Given the description of an element on the screen output the (x, y) to click on. 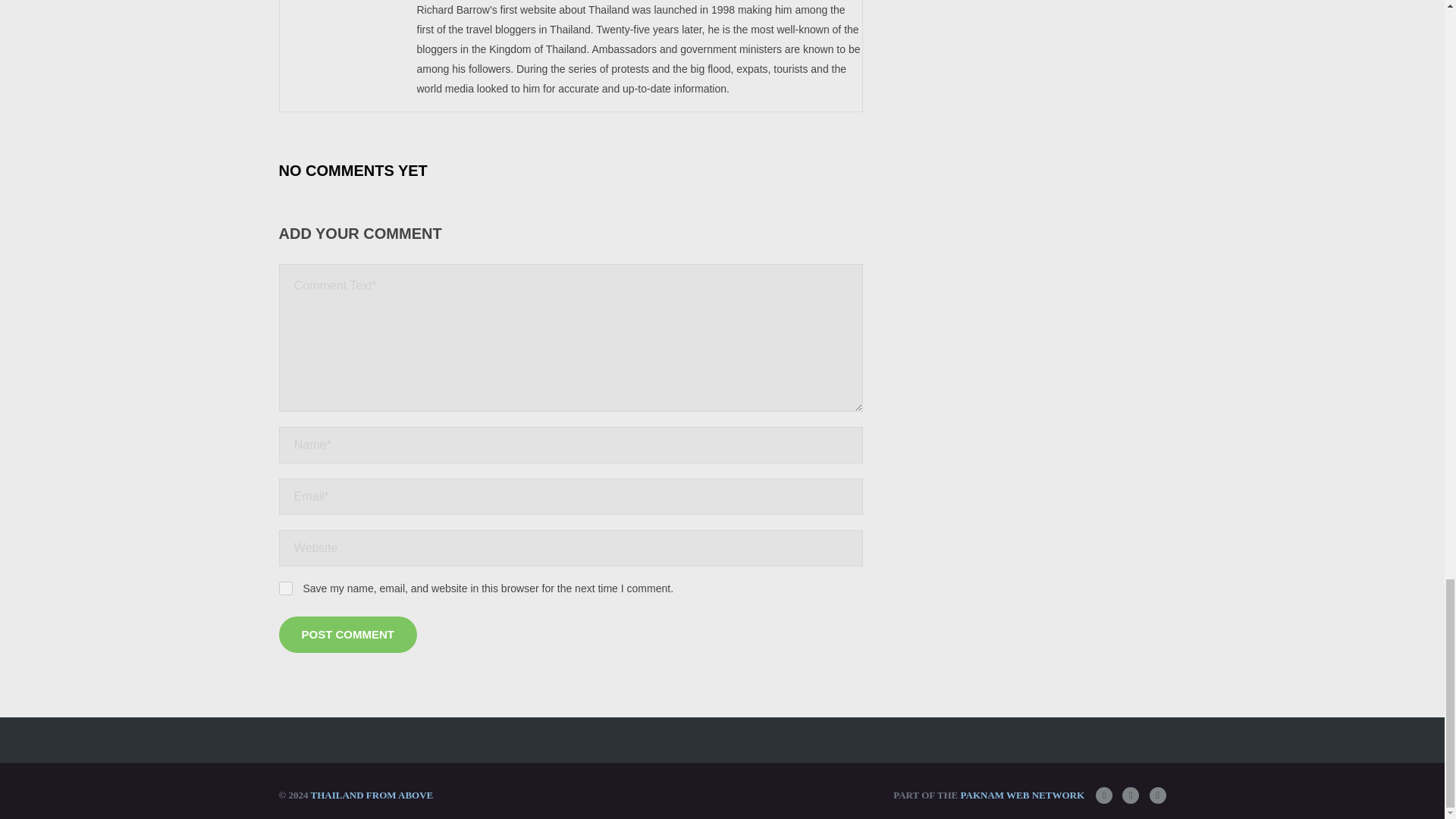
Post Comment (348, 634)
yes (285, 588)
 Drone Photos from Around the Kingdom of Thailand (371, 794)
